Given the description of an element on the screen output the (x, y) to click on. 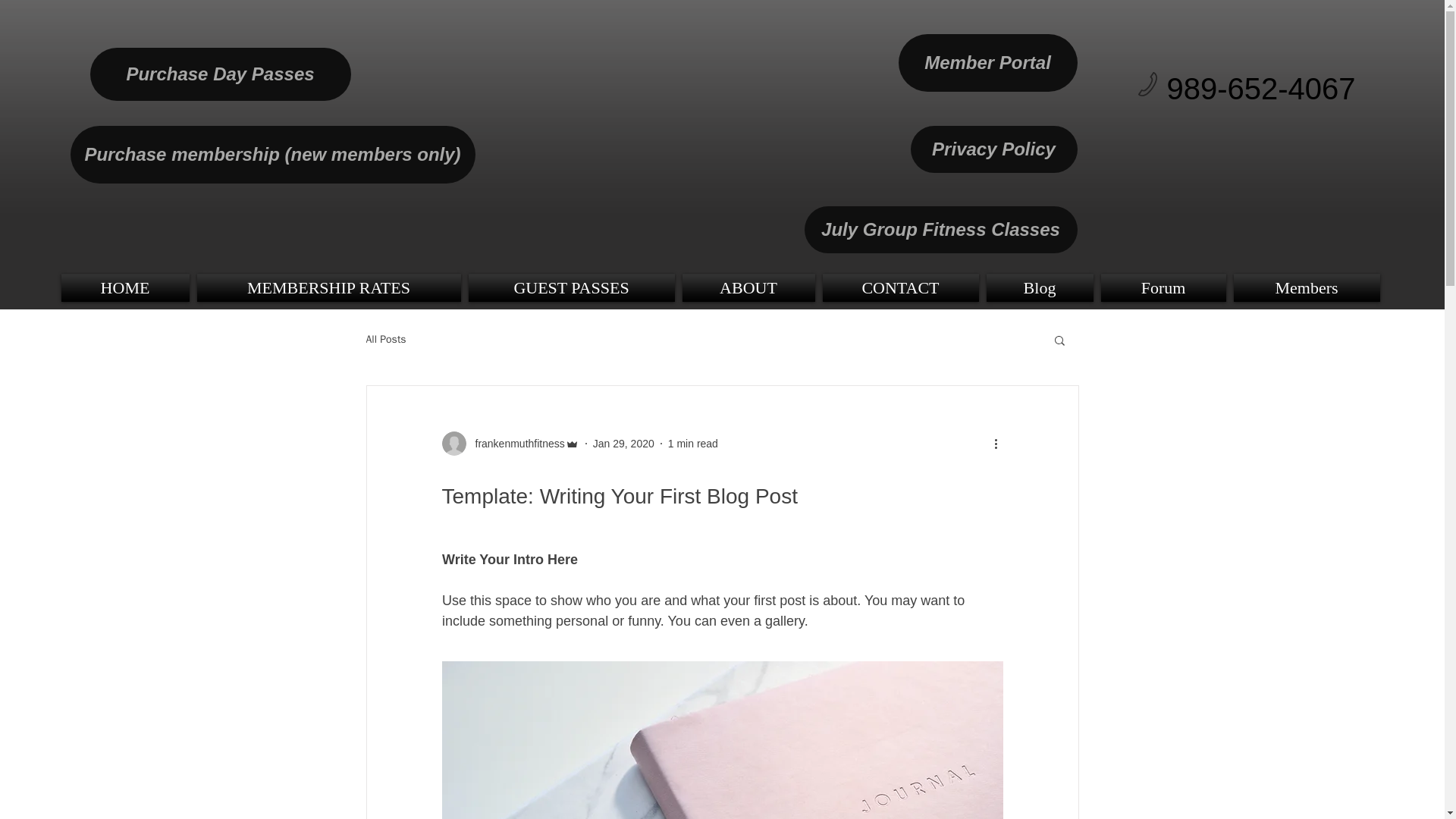
HOME (126, 287)
MEMBERSHIP RATES (328, 287)
1 min read (692, 442)
Forum (1162, 287)
frankenmuthfitness (514, 442)
Members (1305, 287)
All Posts (385, 339)
ABOUT (748, 287)
Member Portal (987, 62)
Privacy Policy (993, 149)
GUEST PASSES (571, 287)
CONTACT (900, 287)
Jan 29, 2020 (622, 442)
Purchase Day Passes (219, 73)
frankenmuthfitness (509, 443)
